Given the description of an element on the screen output the (x, y) to click on. 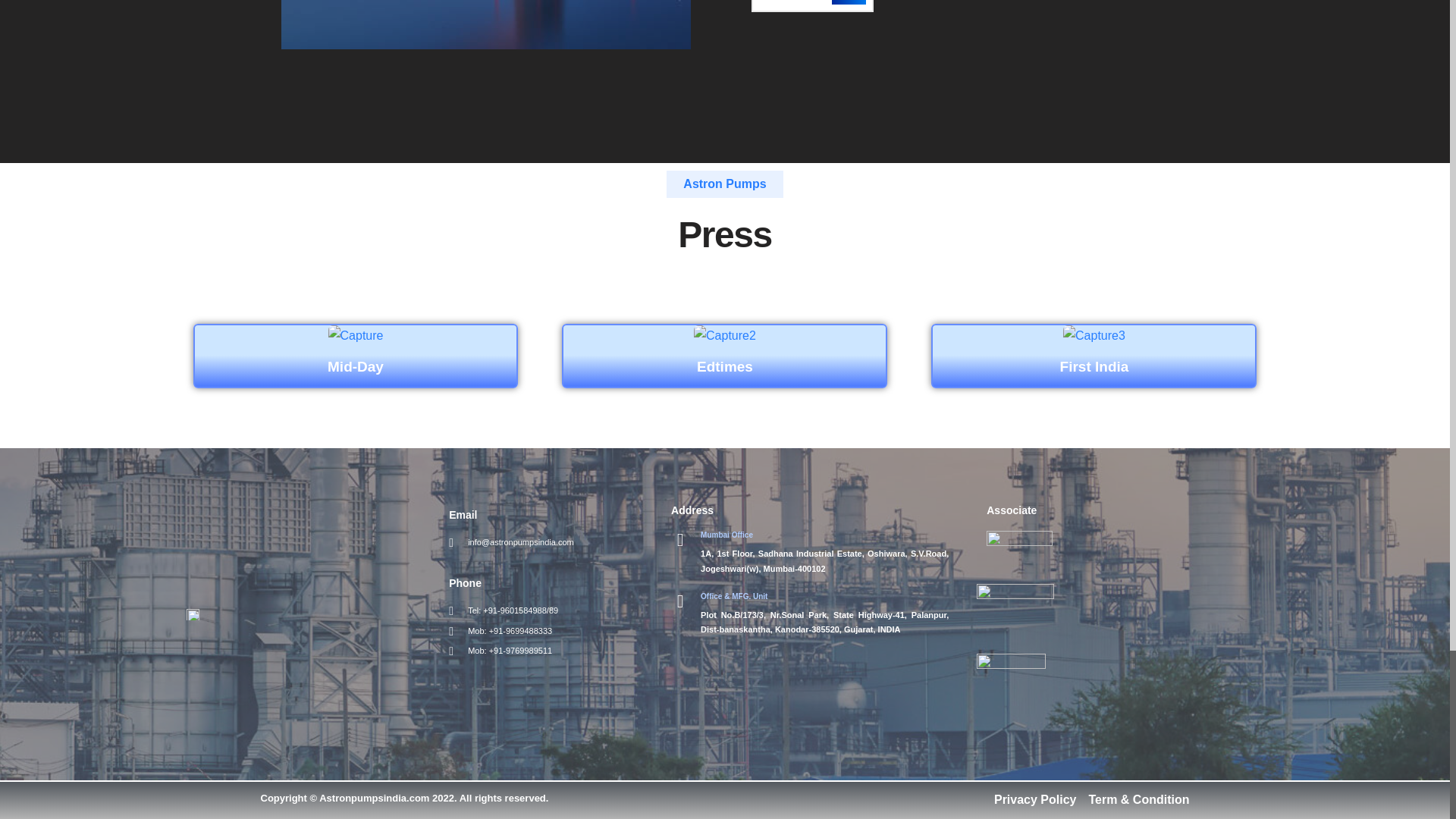
Capture2 (724, 336)
Capture (356, 336)
Capture3 (1093, 336)
